Given the description of an element on the screen output the (x, y) to click on. 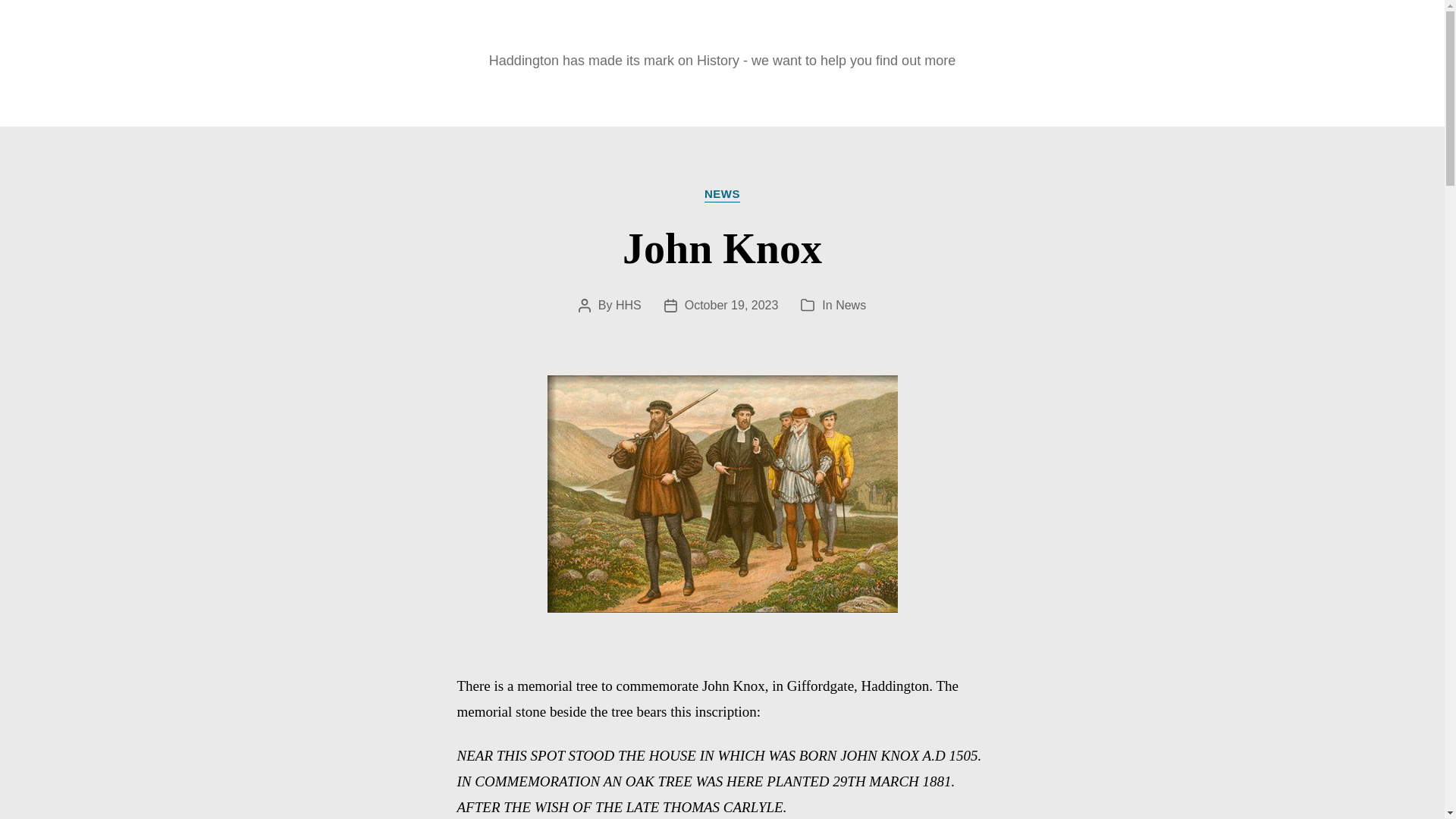
CURRENT PROJECTS (689, 95)
RESOURCES (858, 95)
HADDINGTON'S HISTORY SOCIETY (722, 33)
EVENTS (536, 95)
NEWS (437, 95)
ABOUT US (989, 95)
